Given the description of an element on the screen output the (x, y) to click on. 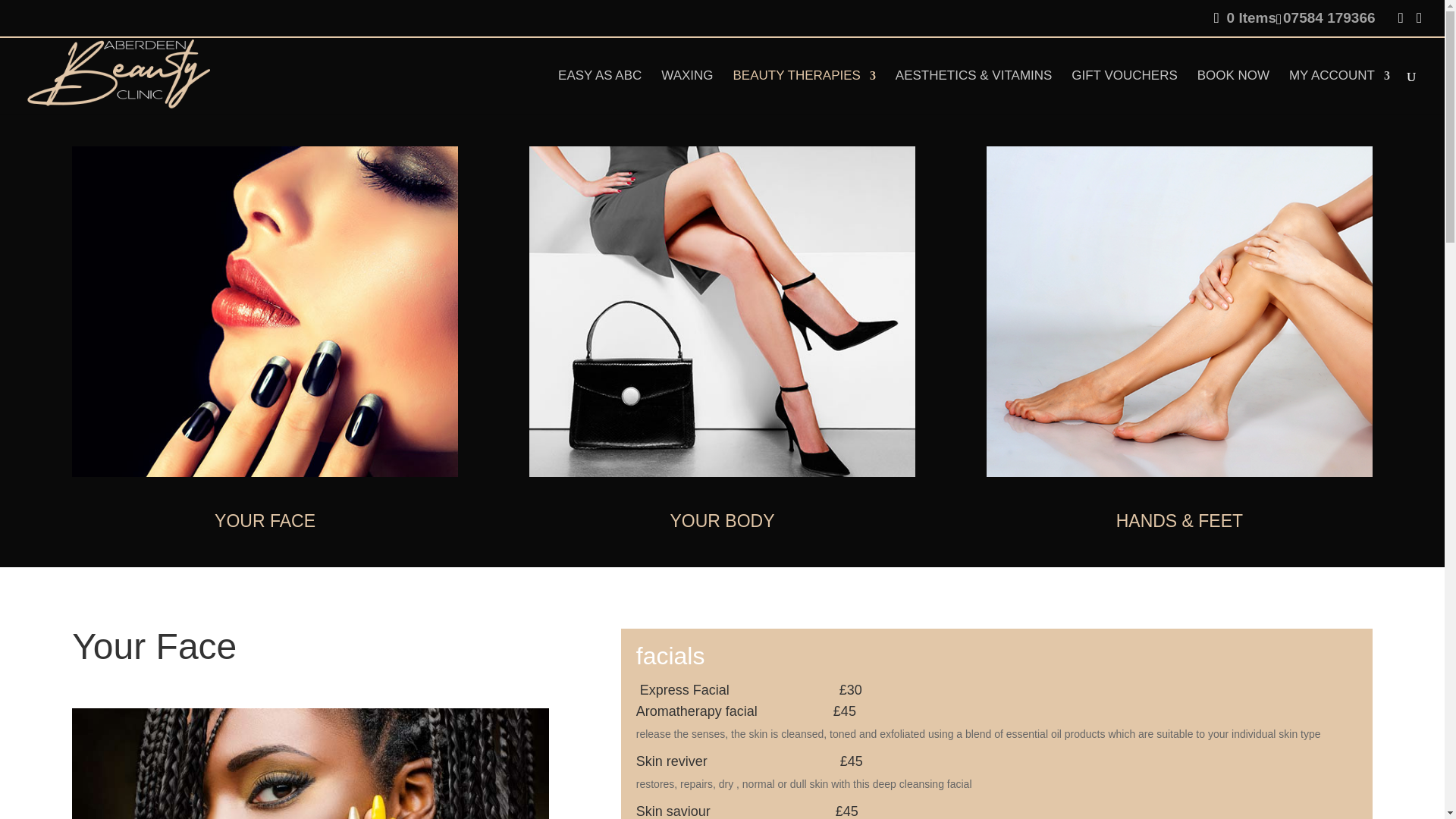
BOOK NOW (1232, 91)
BEAUTY THERAPIES (803, 91)
MY ACCOUNT (1339, 91)
GIFT VOUCHERS (1123, 91)
your-face (264, 311)
EASY AS ABC (599, 91)
WAXING (687, 91)
your-body-top-block (722, 311)
nails-mobile (309, 763)
hands-and-feet-560 (1180, 311)
